Given the description of an element on the screen output the (x, y) to click on. 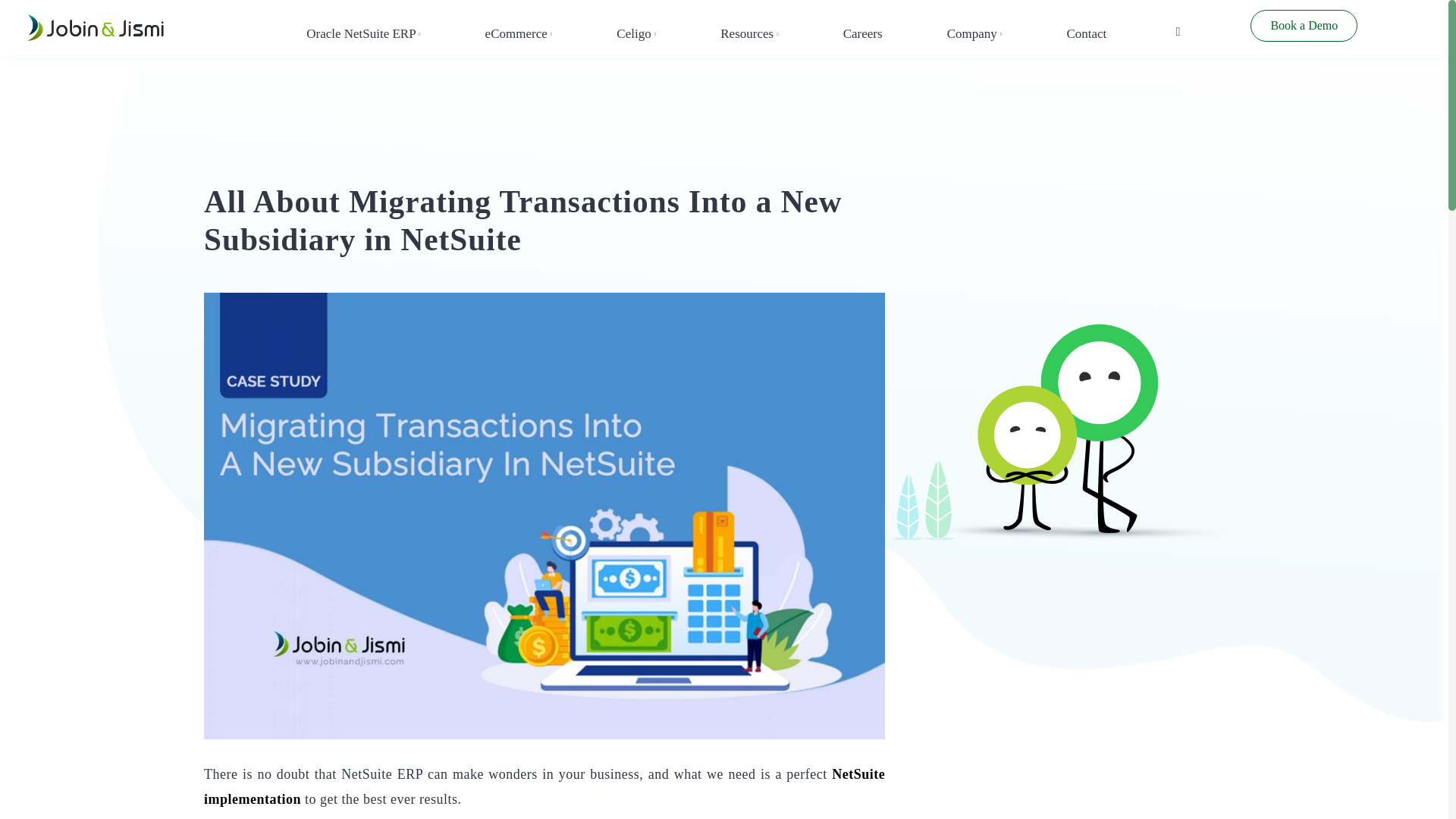
Book a Demo (1303, 25)
Careers (862, 34)
Celigo (635, 34)
Company (975, 34)
Contact (1085, 34)
Resources (748, 34)
